Given the description of an element on the screen output the (x, y) to click on. 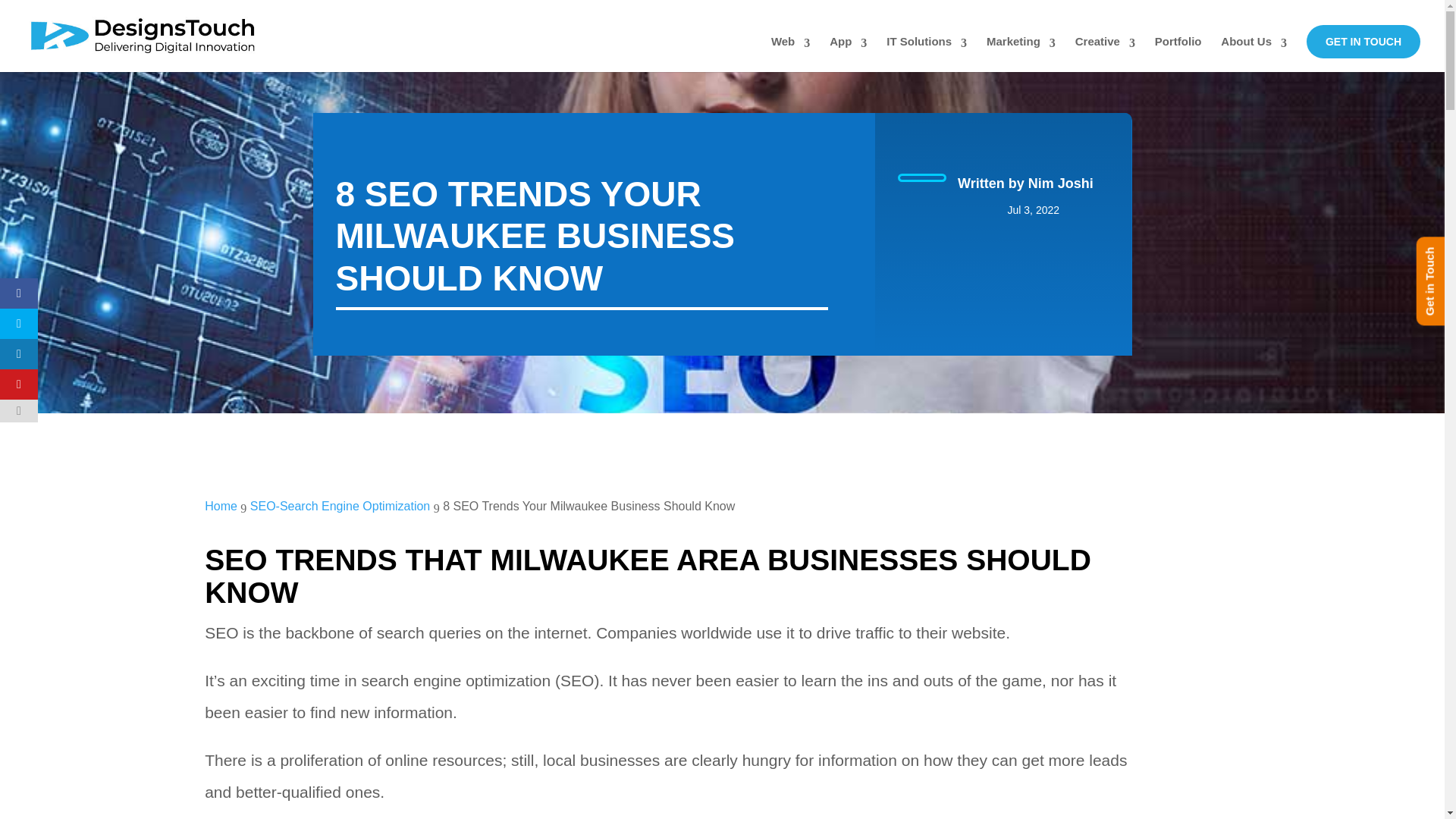
Creative (1105, 54)
Web (790, 54)
GET IN TOUCH (1363, 41)
SEO-Search Engine Optimization (339, 505)
Home (221, 505)
Nim Joshi (1060, 183)
App (847, 54)
About Us (1254, 54)
Portfolio (1178, 54)
Marketing (1021, 54)
IT Solutions (926, 54)
